Given the description of an element on the screen output the (x, y) to click on. 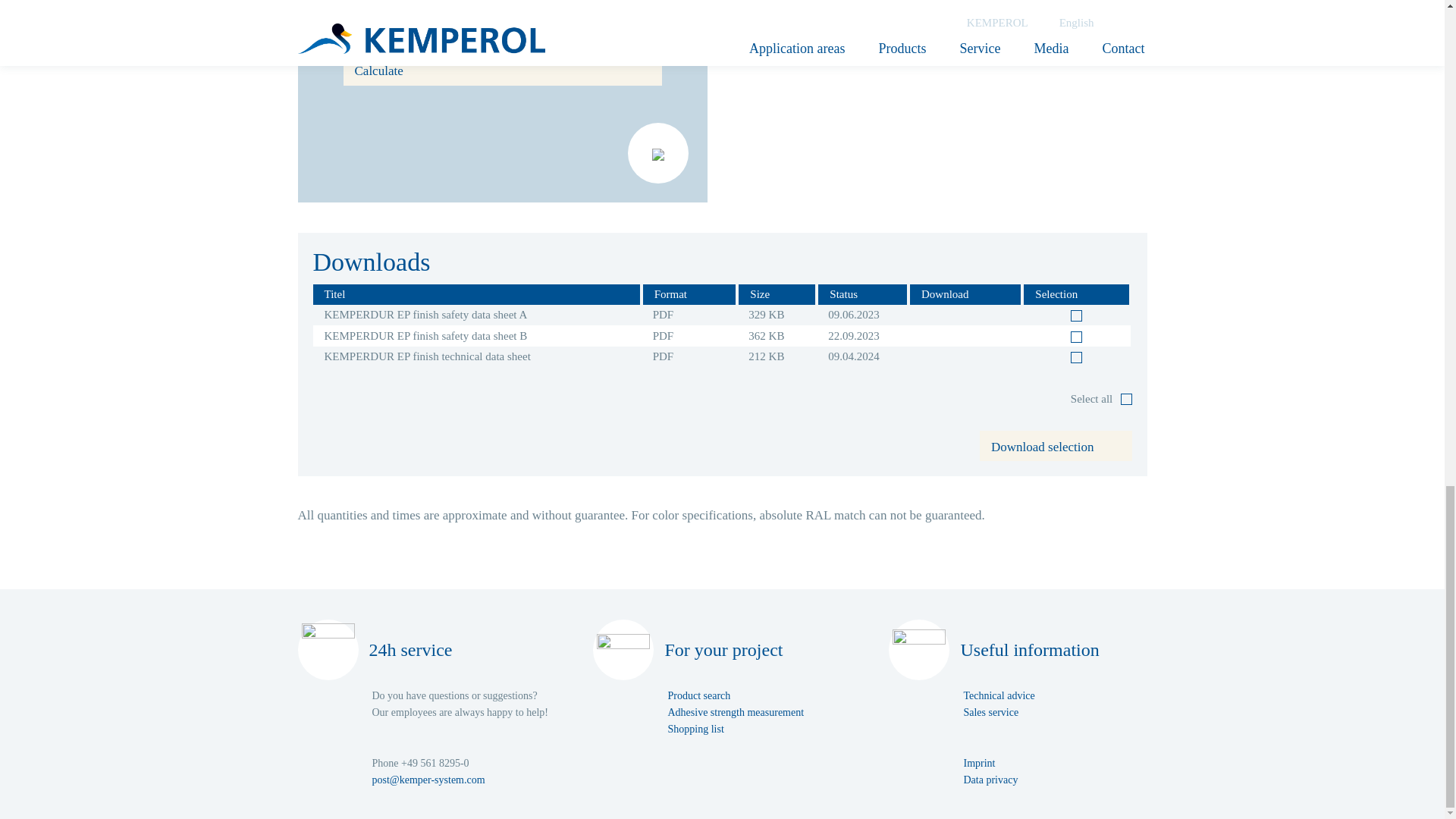
Technical advice (997, 695)
Shopping list (694, 728)
Sales service (989, 712)
Imprint (978, 763)
Product search (698, 695)
Data privacy (989, 779)
Adhesive strength measurement (734, 712)
